Given the description of an element on the screen output the (x, y) to click on. 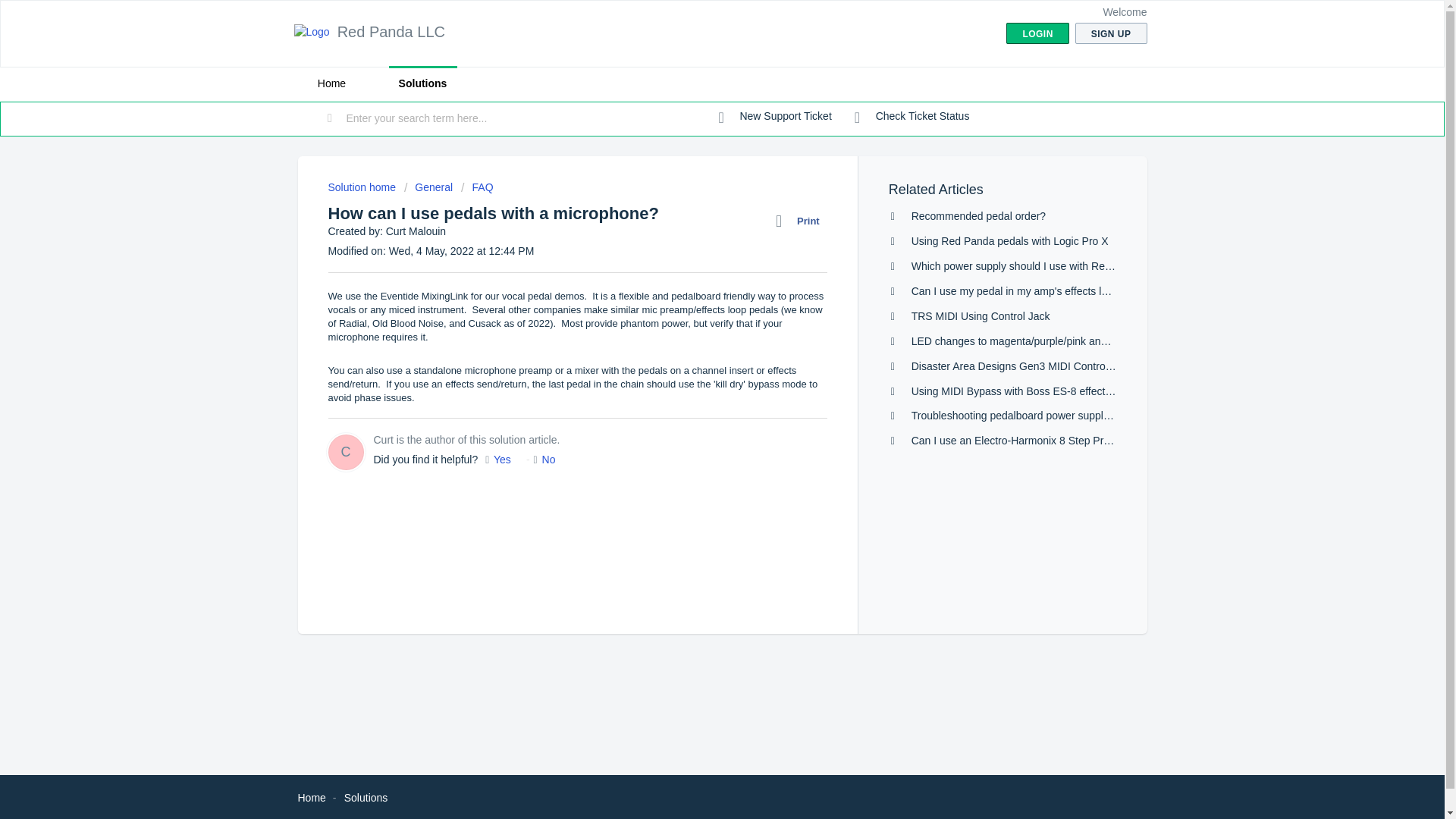
Disaster Area Designs Gen3 MIDI Controllers (1018, 366)
Which power supply should I use with Red Panda pedals? (1048, 265)
General (428, 186)
Home (310, 797)
Can I use my pedal in my amp's effects loop? (1018, 291)
SIGN UP (1111, 33)
Solutions (365, 797)
New Support Ticket (775, 116)
New support ticket (775, 116)
